Given the description of an element on the screen output the (x, y) to click on. 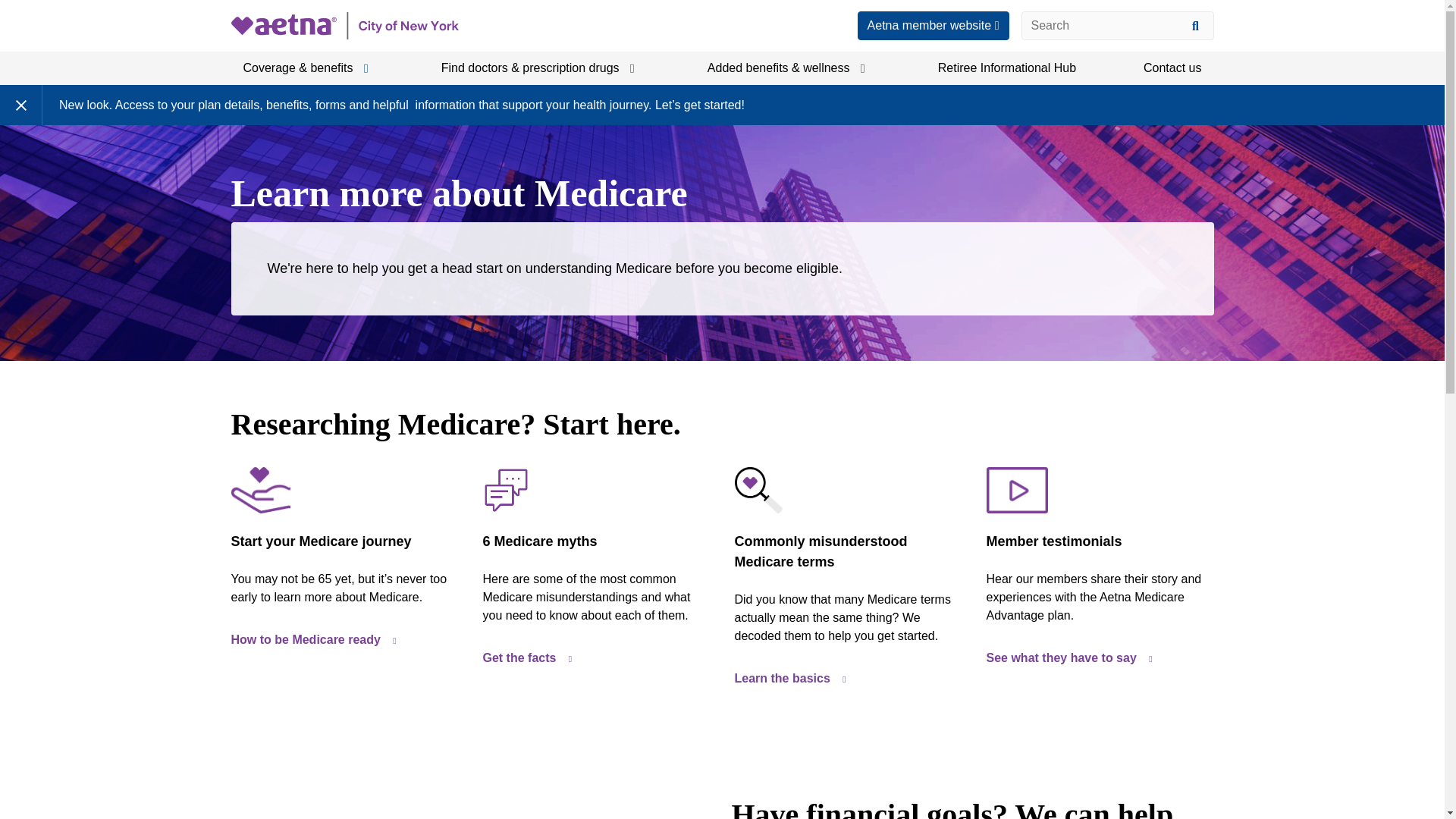
Contact us (1171, 68)
Retiree Informational Hub (1006, 68)
